Given the description of an element on the screen output the (x, y) to click on. 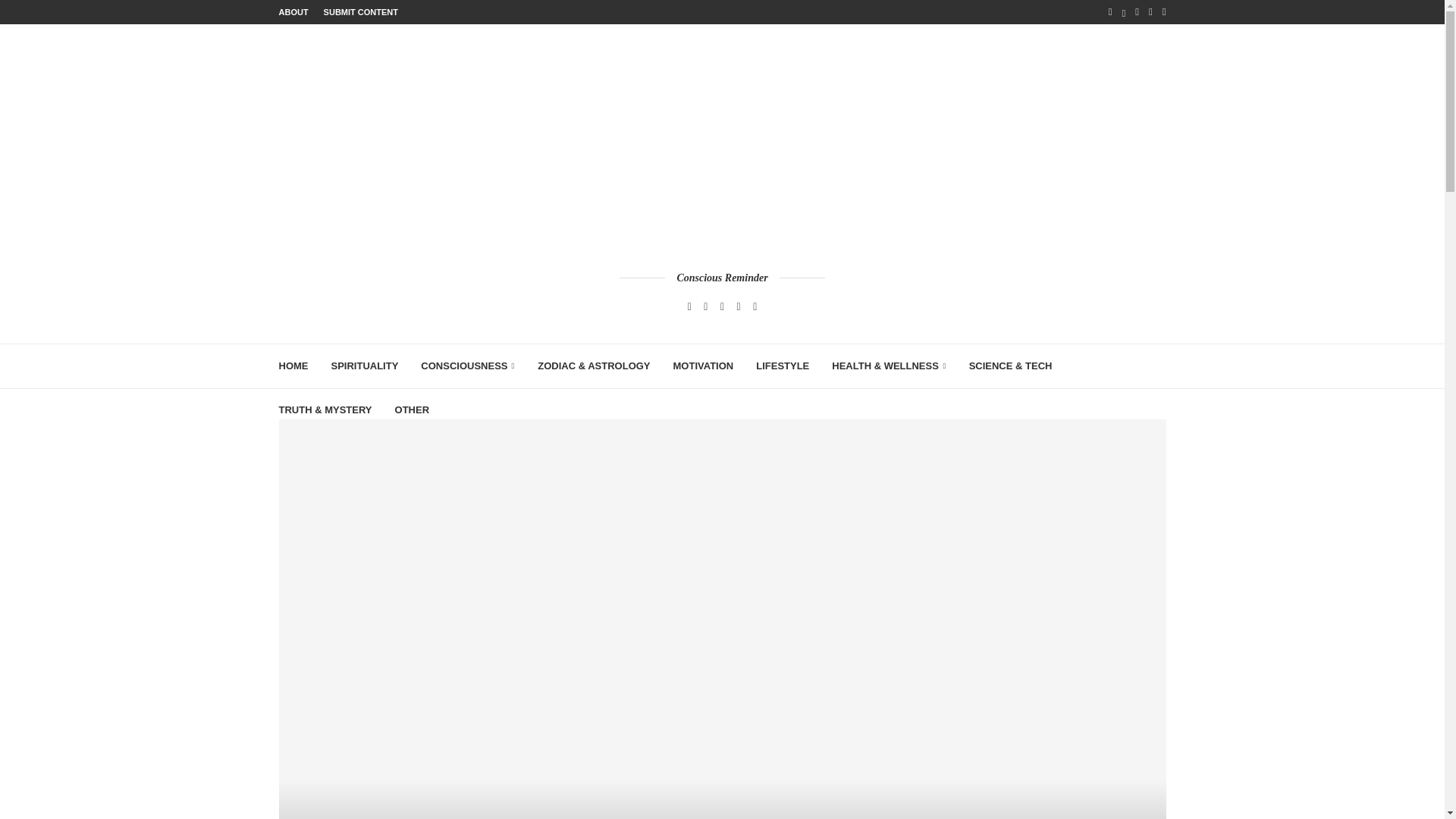
LIFESTYLE (782, 365)
SUBMIT CONTENT (360, 12)
CONSCIOUSNESS (467, 365)
ABOUT (293, 12)
SPIRITUALITY (363, 365)
MOTIVATION (702, 365)
